Given the description of an element on the screen output the (x, y) to click on. 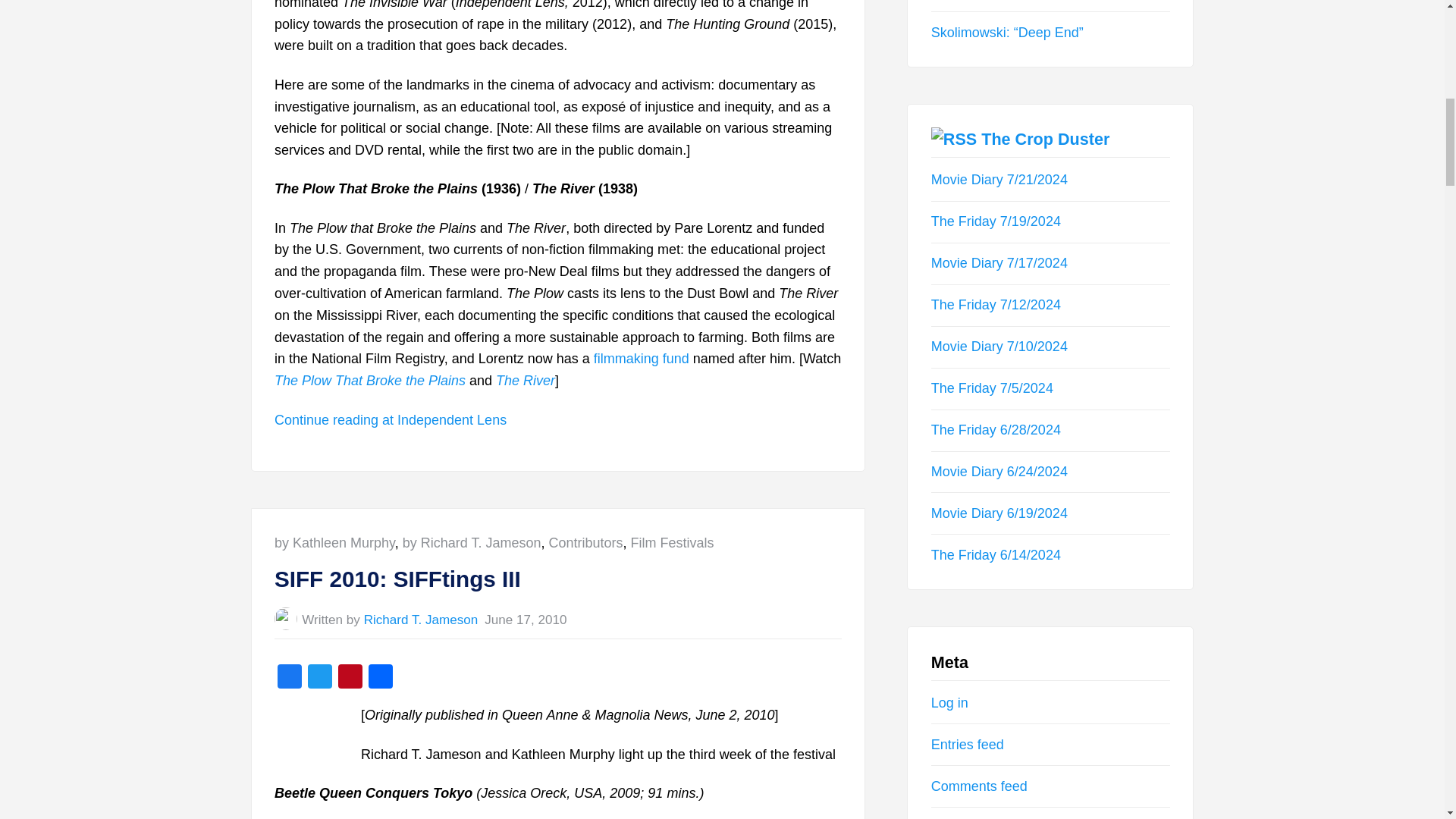
SIFF 2010: SIFFtings III (558, 579)
by Richard T. Jameson (472, 542)
filmmaking fund (641, 358)
Facebook (289, 678)
Twitter (319, 678)
Facebook (289, 678)
June 17, 2010 (525, 619)
Twitter (319, 678)
Continue reading at Independent Lens (390, 419)
Pinterest (349, 678)
by Kathleen Murphy (334, 542)
The River (525, 380)
Contributors (585, 542)
Richard T. Jameson (421, 619)
The Plow That Broke the Plains (370, 380)
